Given the description of an element on the screen output the (x, y) to click on. 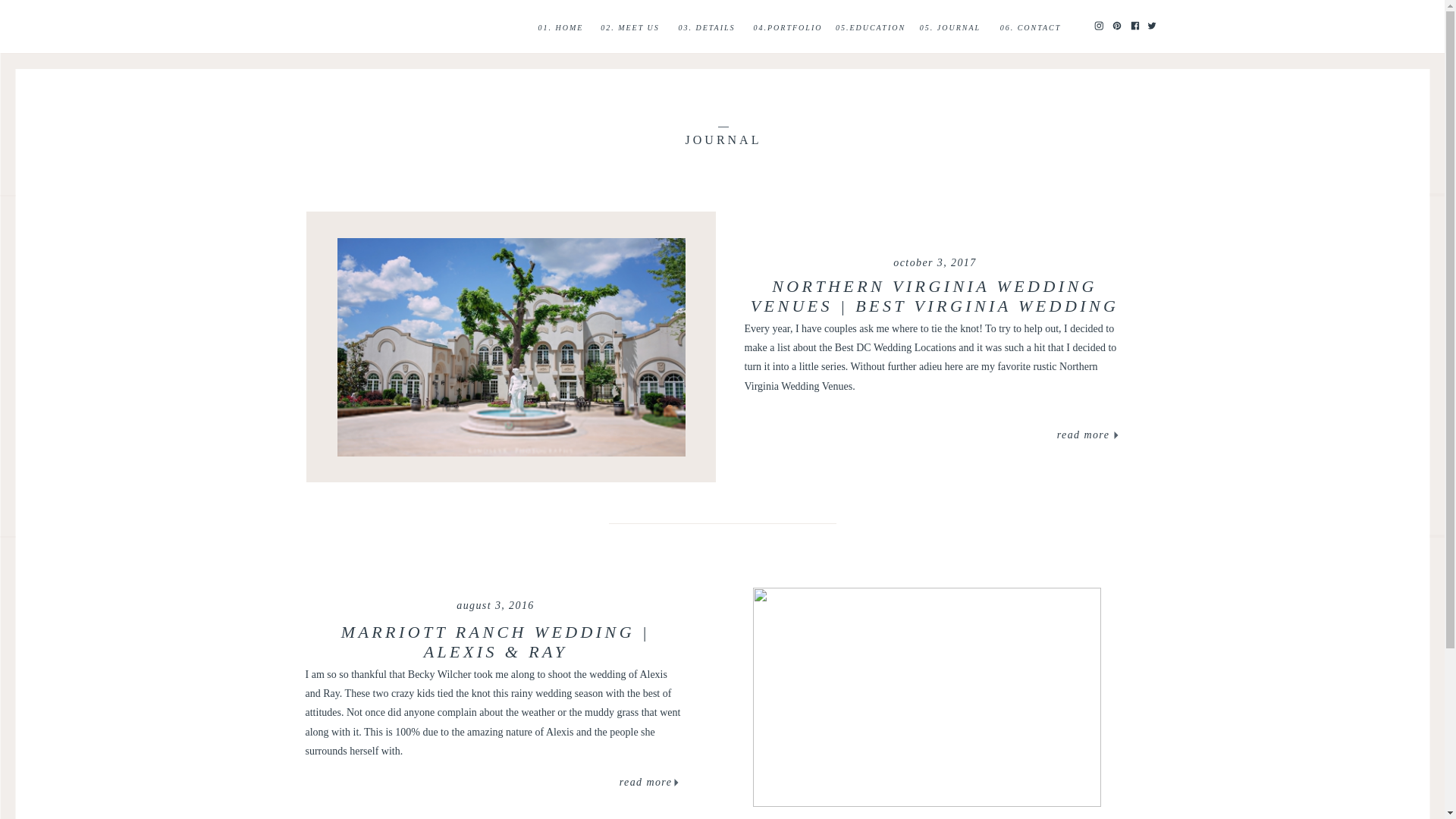
Instagram-color Created with Sketch. (1097, 25)
05. JOURNAL (949, 27)
read more (1083, 436)
Instagram-color Created with Sketch. (1097, 24)
02. MEET US (629, 27)
read more (646, 783)
Facebook Copy-color Created with Sketch. (1133, 24)
04.PORTFOLIO (787, 27)
Best DC Wedding Locations (895, 347)
Facebook Copy-color Created with Sketch. (1133, 25)
03. DETAILS (706, 27)
06. CONTACT (1029, 27)
05.EDUCATION (870, 27)
01. HOME (560, 27)
